Given the description of an element on the screen output the (x, y) to click on. 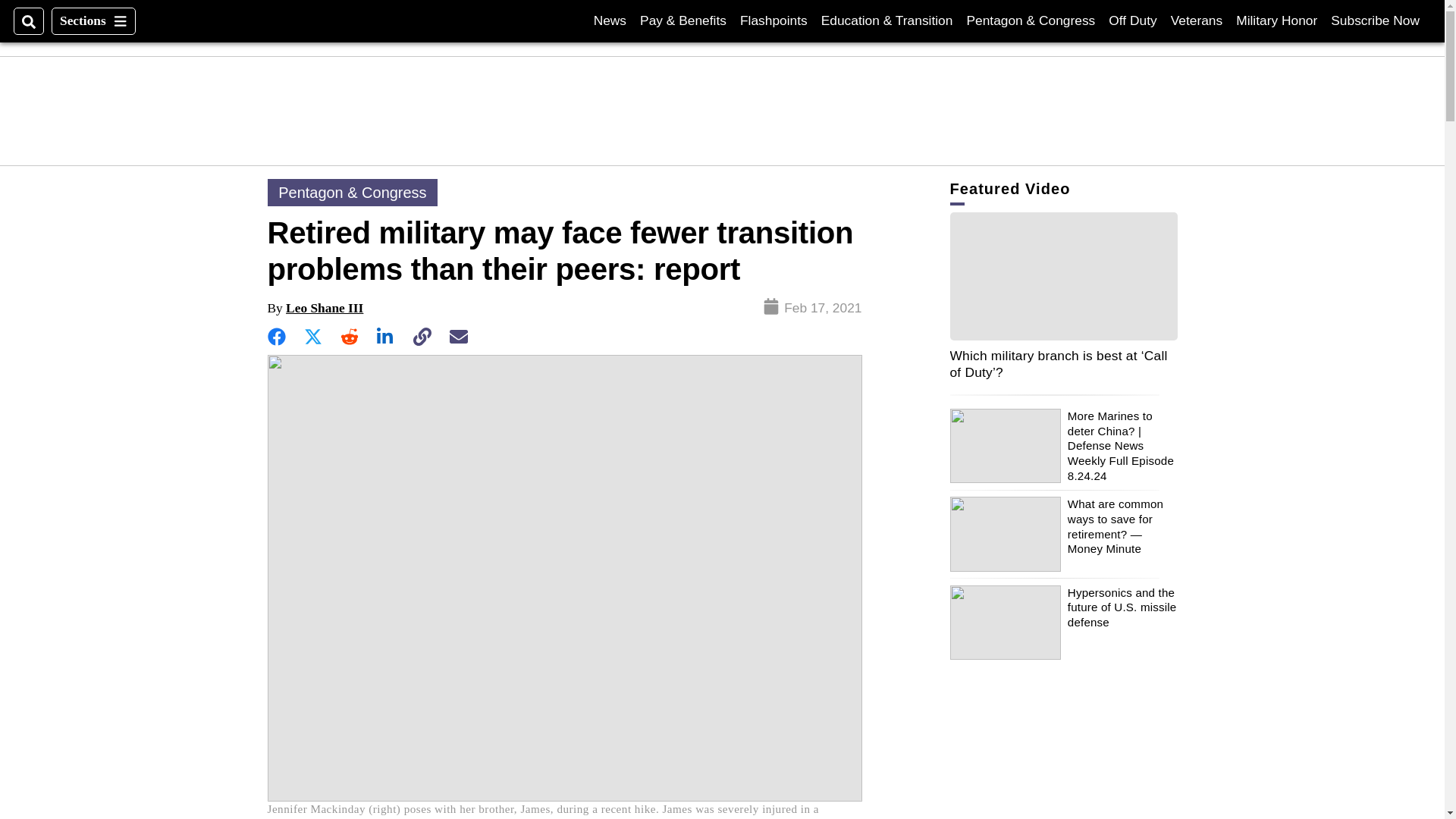
Veterans (1196, 20)
Flashpoints (773, 20)
Off Duty (1132, 20)
Military Honor (1276, 20)
Sections (92, 21)
News (610, 20)
